Given the description of an element on the screen output the (x, y) to click on. 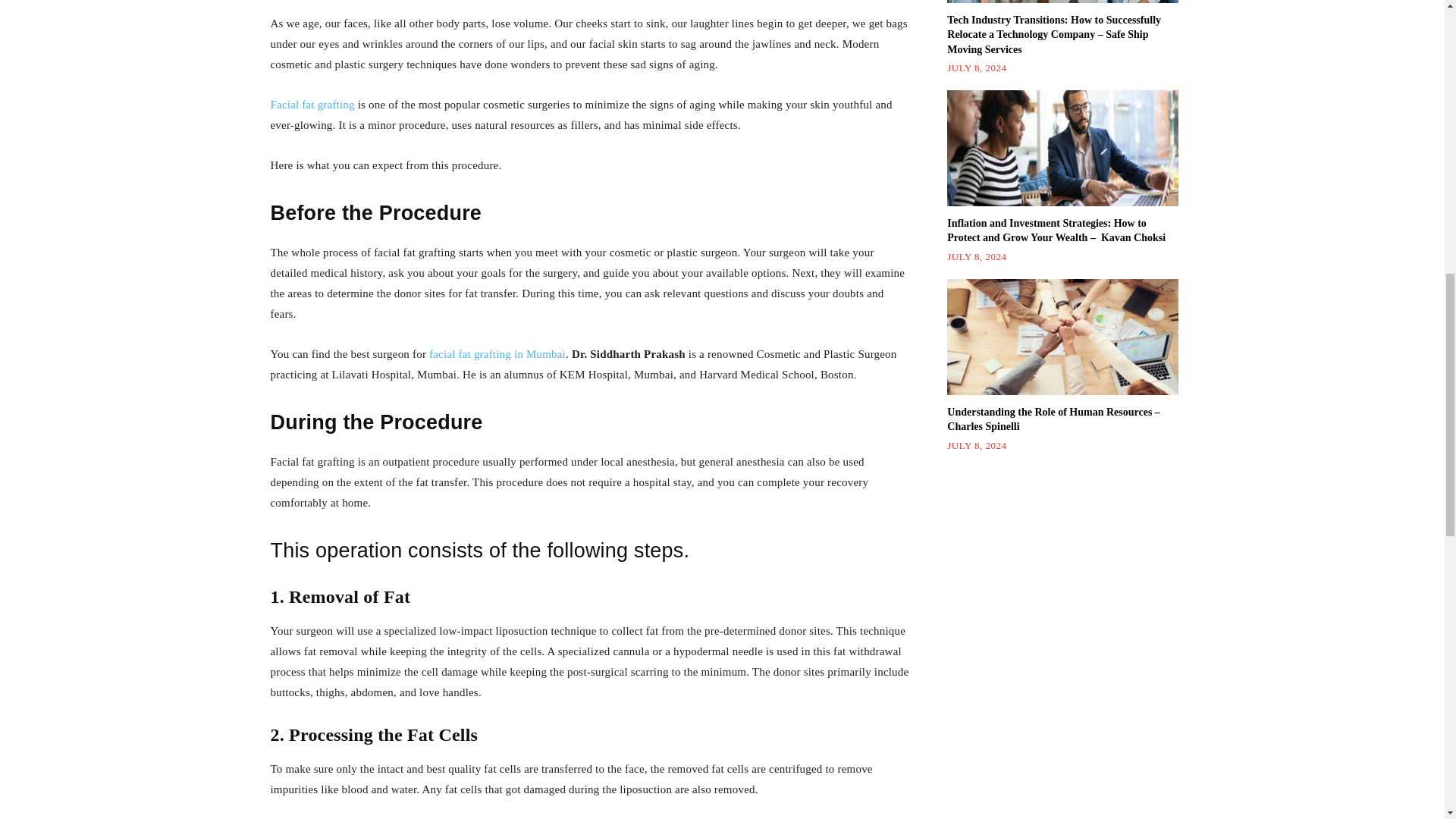
facial fat grafting in Mumbai (497, 354)
Facial fat grafting (311, 104)
